Given the description of an element on the screen output the (x, y) to click on. 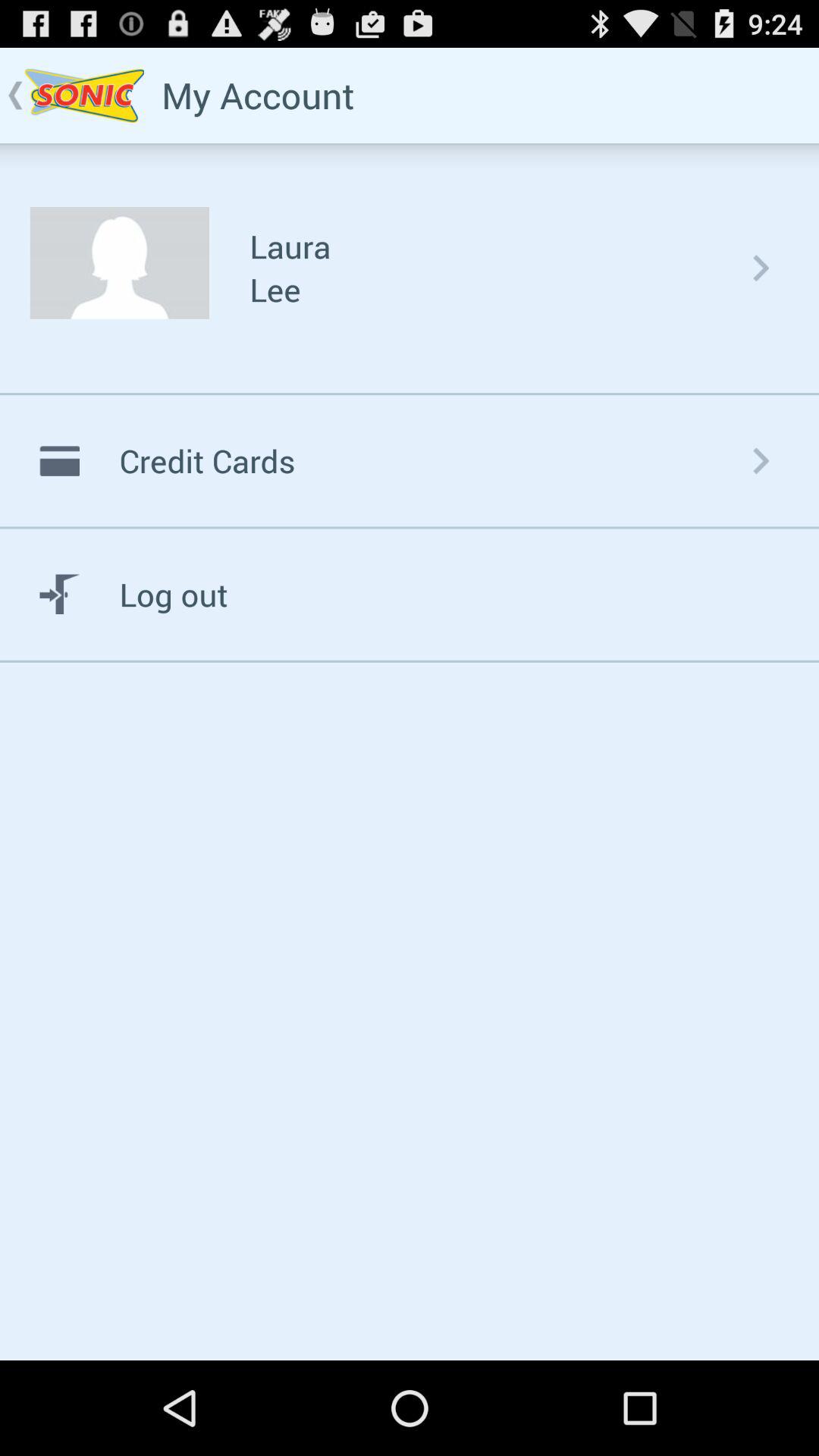
click on arrow pointing towards right (760, 267)
select the credit card symbol which is beside credit cards (59, 460)
click on the icon which is at the left of the text log out (59, 594)
click on the empty photo image to the left of laura lee text (119, 262)
